Given the description of an element on the screen output the (x, y) to click on. 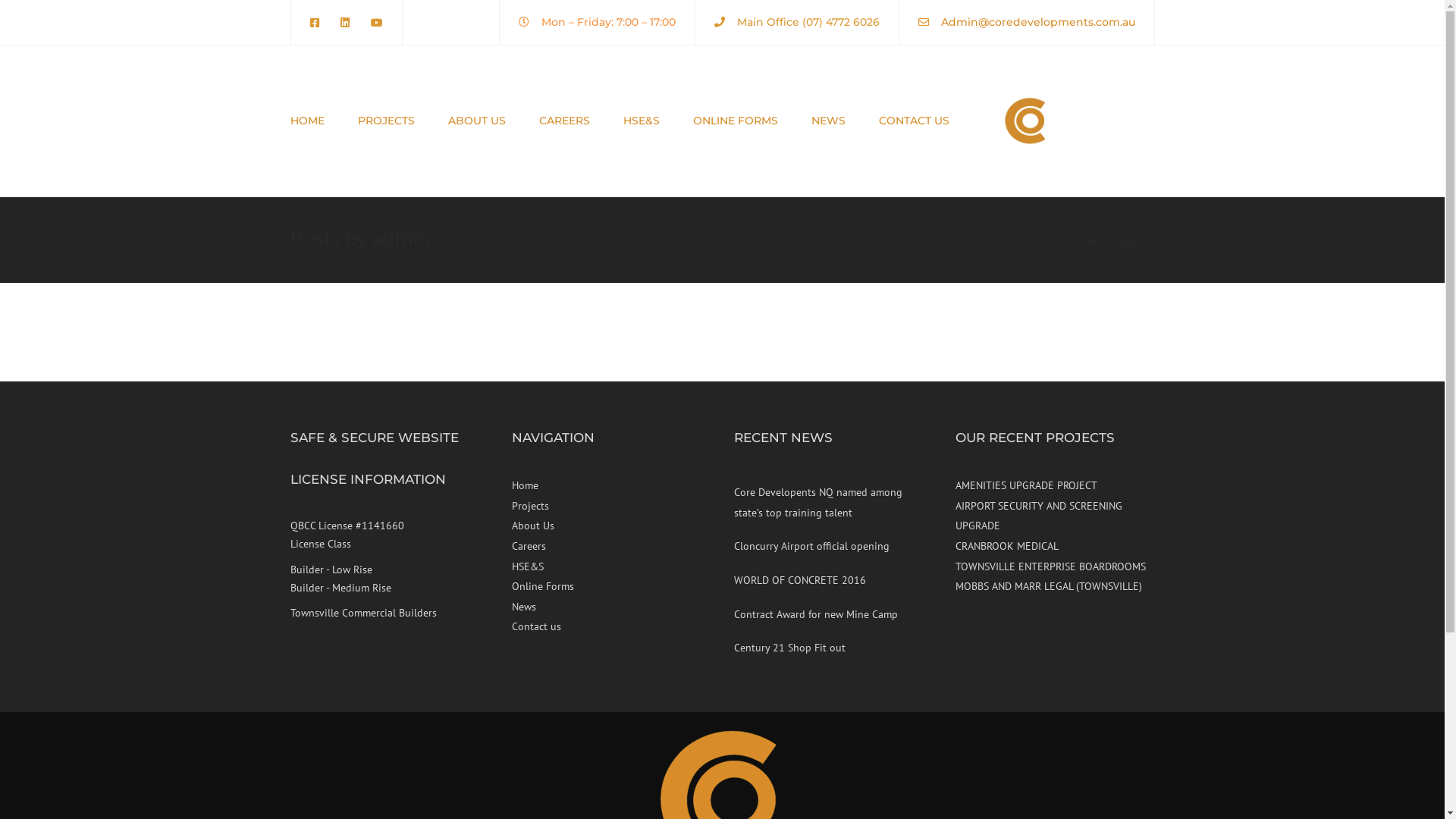
CRANBROOK MEDICAL Element type: text (1006, 545)
Century 21 Shop Fit out Element type: text (789, 647)
Admin@coredevelopments.com.au Element type: text (1037, 21)
About Us Element type: text (611, 525)
HSE&S Element type: text (641, 121)
Online Forms Element type: text (611, 586)
MOBBS AND MARR LEGAL (TOWNSVILLE) Element type: text (1048, 586)
CONTACT US Element type: text (913, 121)
Contact us Element type: text (611, 626)
PROJECTS Element type: text (386, 121)
linkedin Element type: text (344, 23)
HOME Element type: text (306, 121)
ONLINE FORMS Element type: text (735, 121)
News Element type: text (611, 606)
AMENITIES UPGRADE PROJECT Element type: text (1026, 485)
Youtube Element type: text (372, 23)
NEWS Element type: text (828, 121)
WORLD OF CONCRETE 2016 Element type: text (800, 579)
AIRPORT SECURITY AND SCREENING UPGRADE Element type: text (1038, 515)
ABOUT US Element type: text (475, 121)
Careers Element type: text (611, 546)
Cloncurry Airport official opening Element type: text (811, 545)
Contract Award for new Mine Camp Element type: text (815, 614)
CAREERS Element type: text (563, 121)
Projects Element type: text (611, 505)
Home Element type: text (1095, 241)
TOWNSVILLE ENTERPRISE BOARDROOMS Element type: text (1050, 566)
Facebook Element type: text (317, 23)
HSE&S Element type: text (611, 566)
Home Element type: text (611, 485)
